Given the description of an element on the screen output the (x, y) to click on. 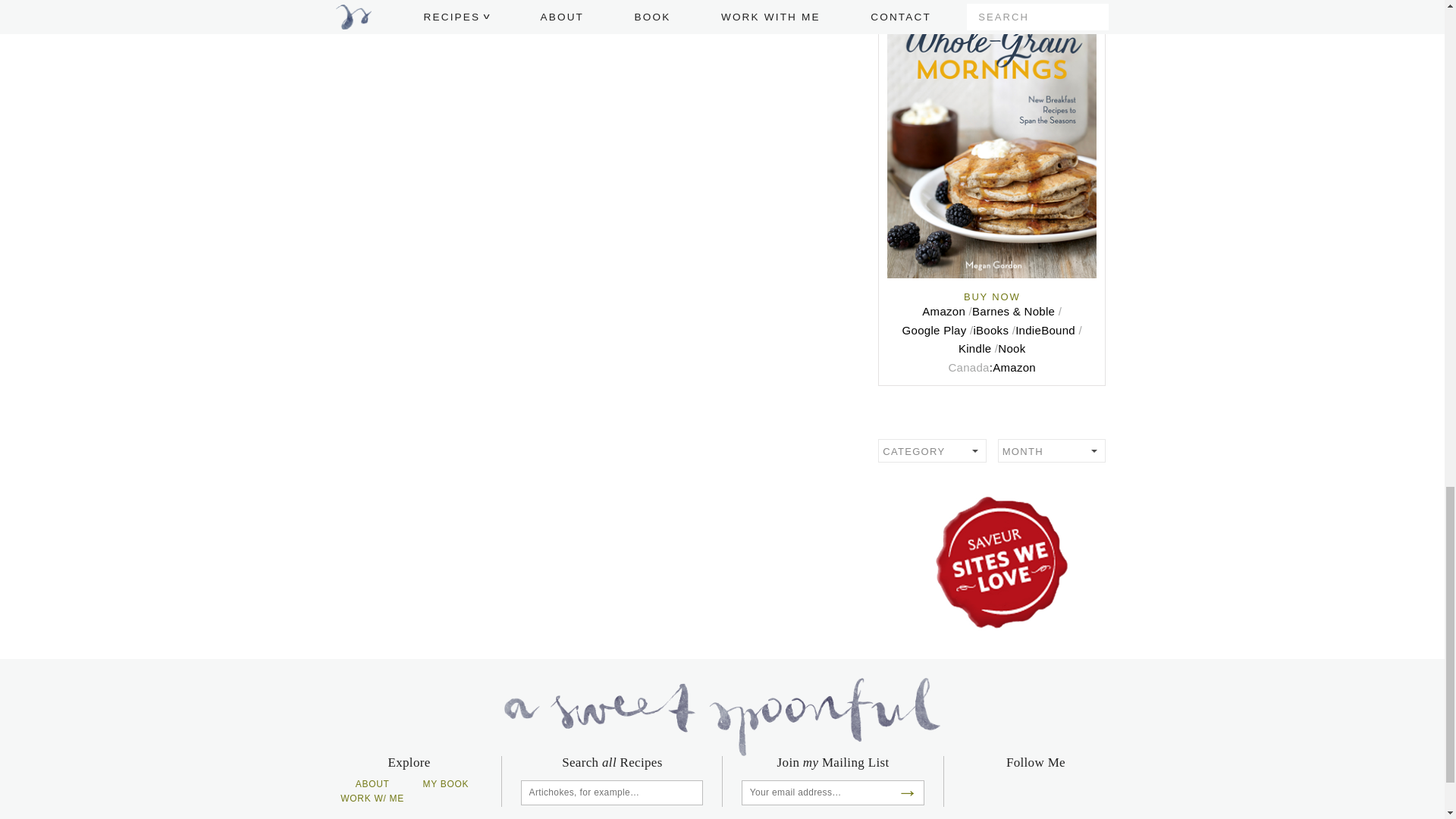
Facebook Facebook (970, 791)
RSS Facebook (1022, 791)
Instagram Facebook (1100, 791)
Pinterest Facebook (996, 791)
Submit (691, 792)
Explore (991, 421)
Twitter Facebook (1049, 791)
Google Plus Facebook (1075, 791)
